Given the description of an element on the screen output the (x, y) to click on. 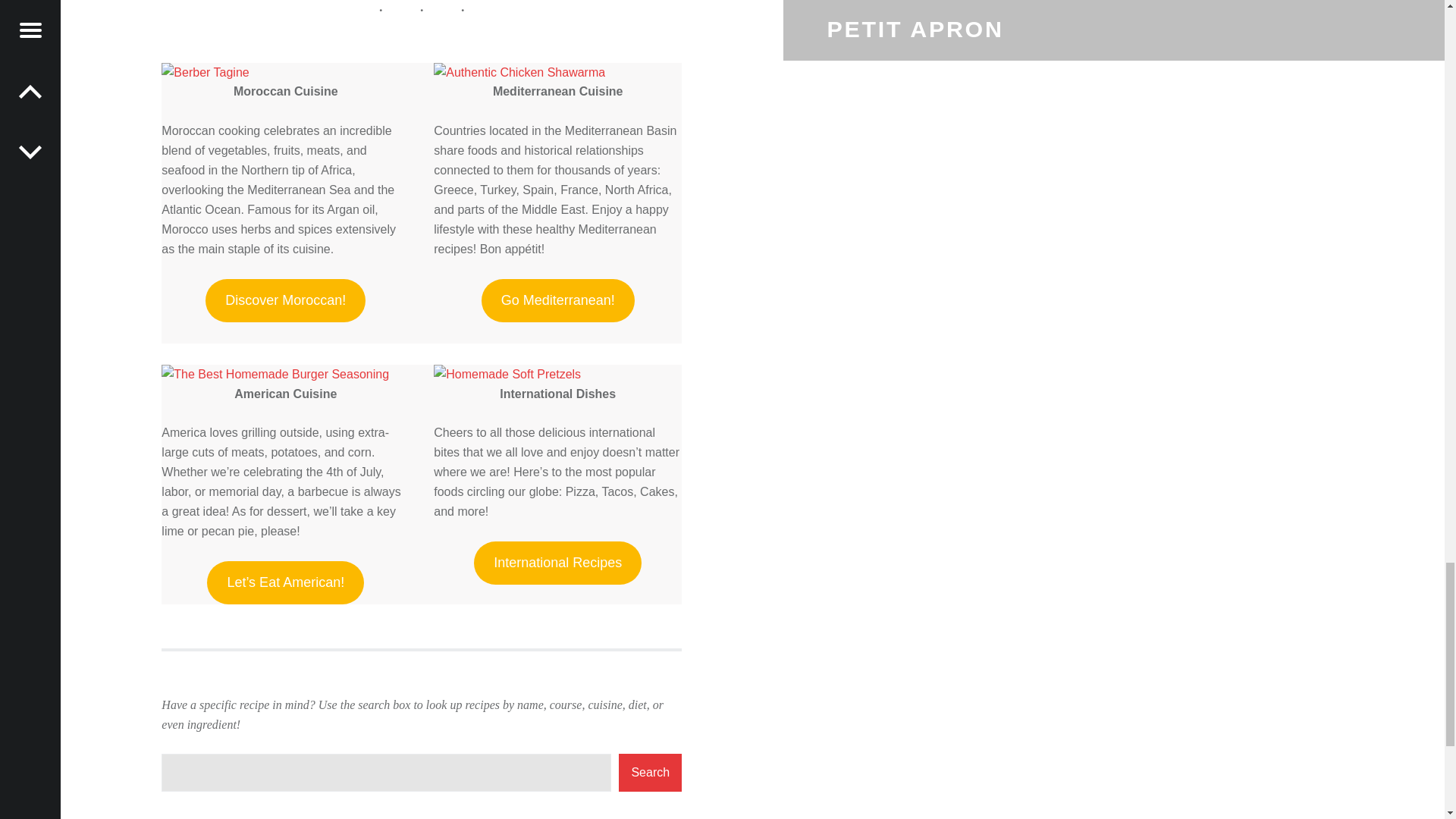
Go Mediterranean! (557, 300)
International Recipes (558, 562)
Discover Moroccan! (285, 300)
Search (649, 772)
